Given the description of an element on the screen output the (x, y) to click on. 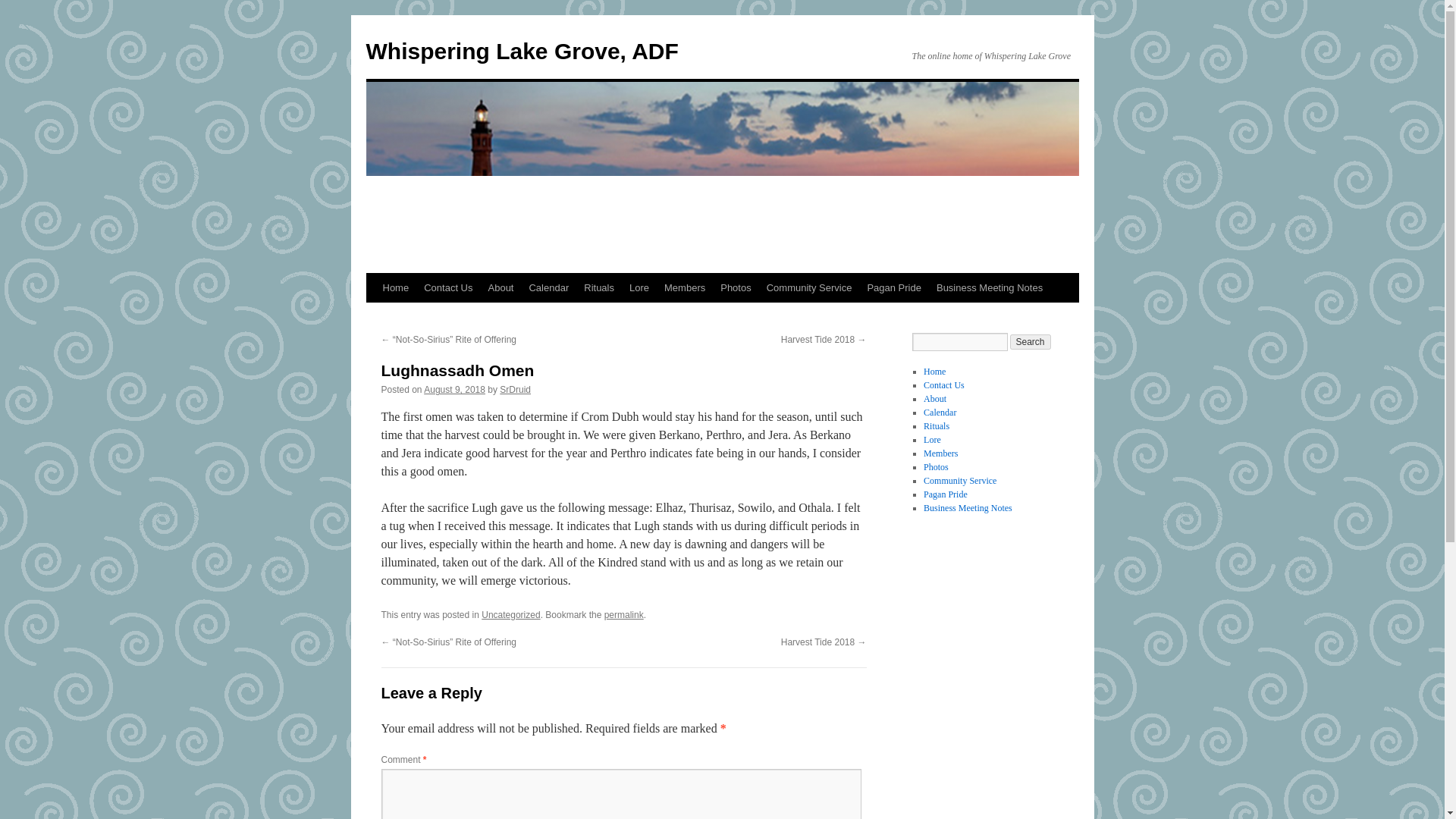
August 9, 2018 (453, 389)
Community Service (959, 480)
Community Service (809, 287)
View all posts by SrDruid (515, 389)
Search (1030, 341)
Home (395, 287)
Members (940, 452)
Pagan Pride (893, 287)
Home (933, 371)
About (934, 398)
Rituals (598, 287)
Members (684, 287)
Photos (936, 466)
Business Meeting Notes (967, 507)
Contact Us (943, 385)
